Given the description of an element on the screen output the (x, y) to click on. 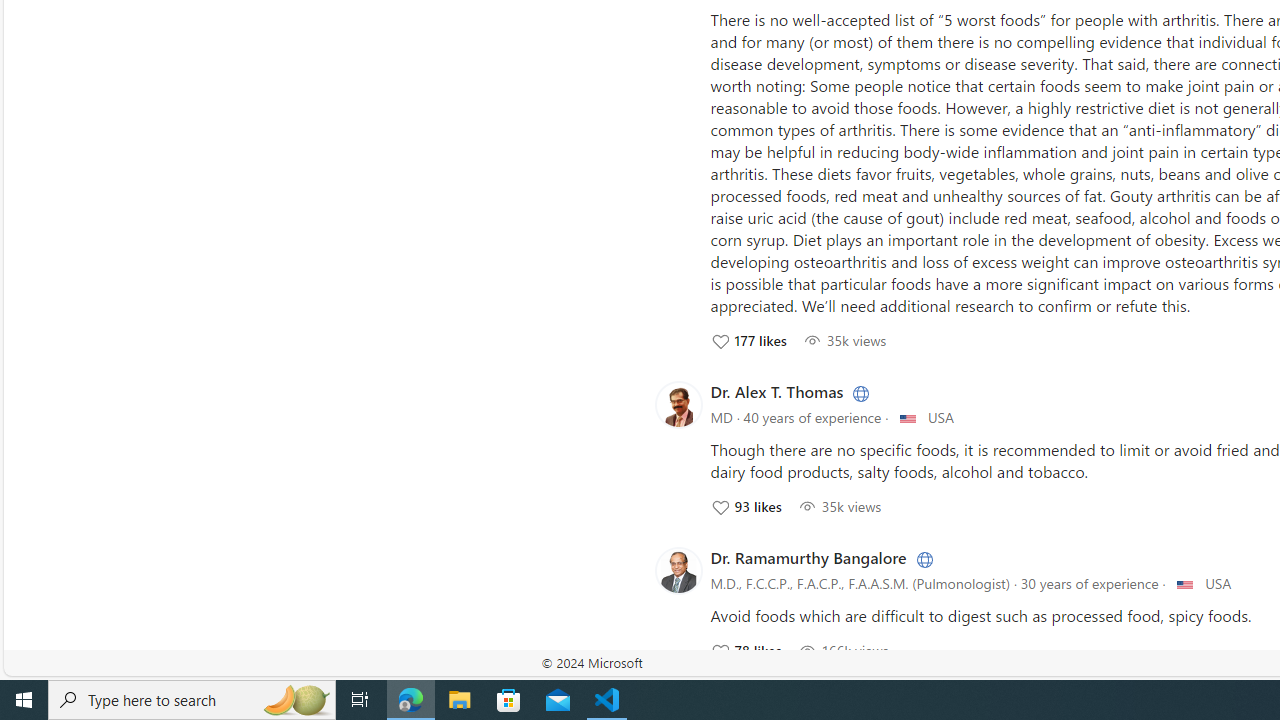
93 Like; Click to Like (745, 506)
35587 View; Click to View (844, 340)
doctorIconRound (678, 570)
166504 View; Click to View (843, 650)
Flag image of USA (1184, 584)
35593 View; Click to View (839, 506)
LinkedIn (921, 557)
177 Like; Click to Like (747, 340)
78 Like; Click to Like (745, 650)
